Given the description of an element on the screen output the (x, y) to click on. 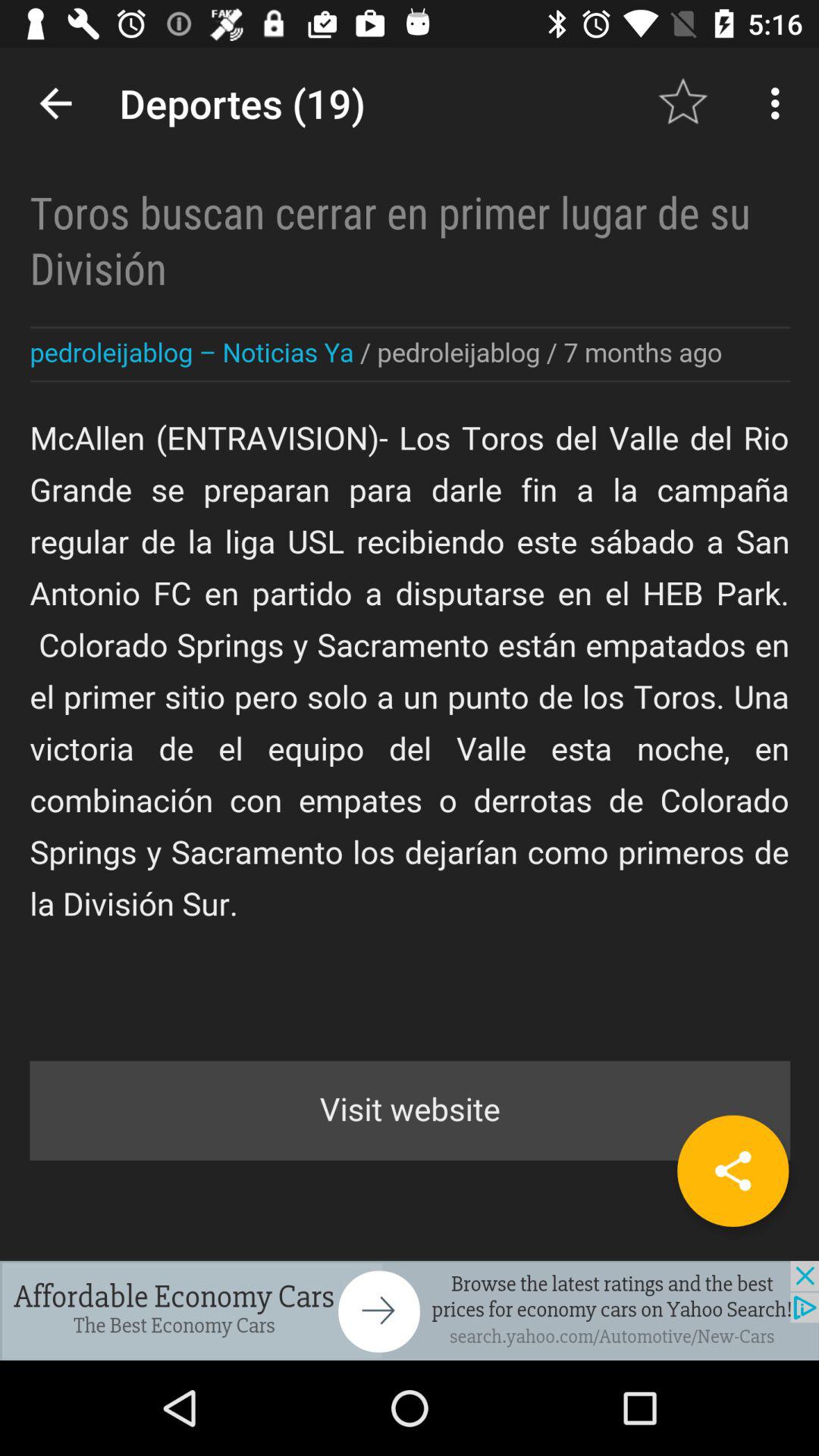
go to share (733, 1171)
